Given the description of an element on the screen output the (x, y) to click on. 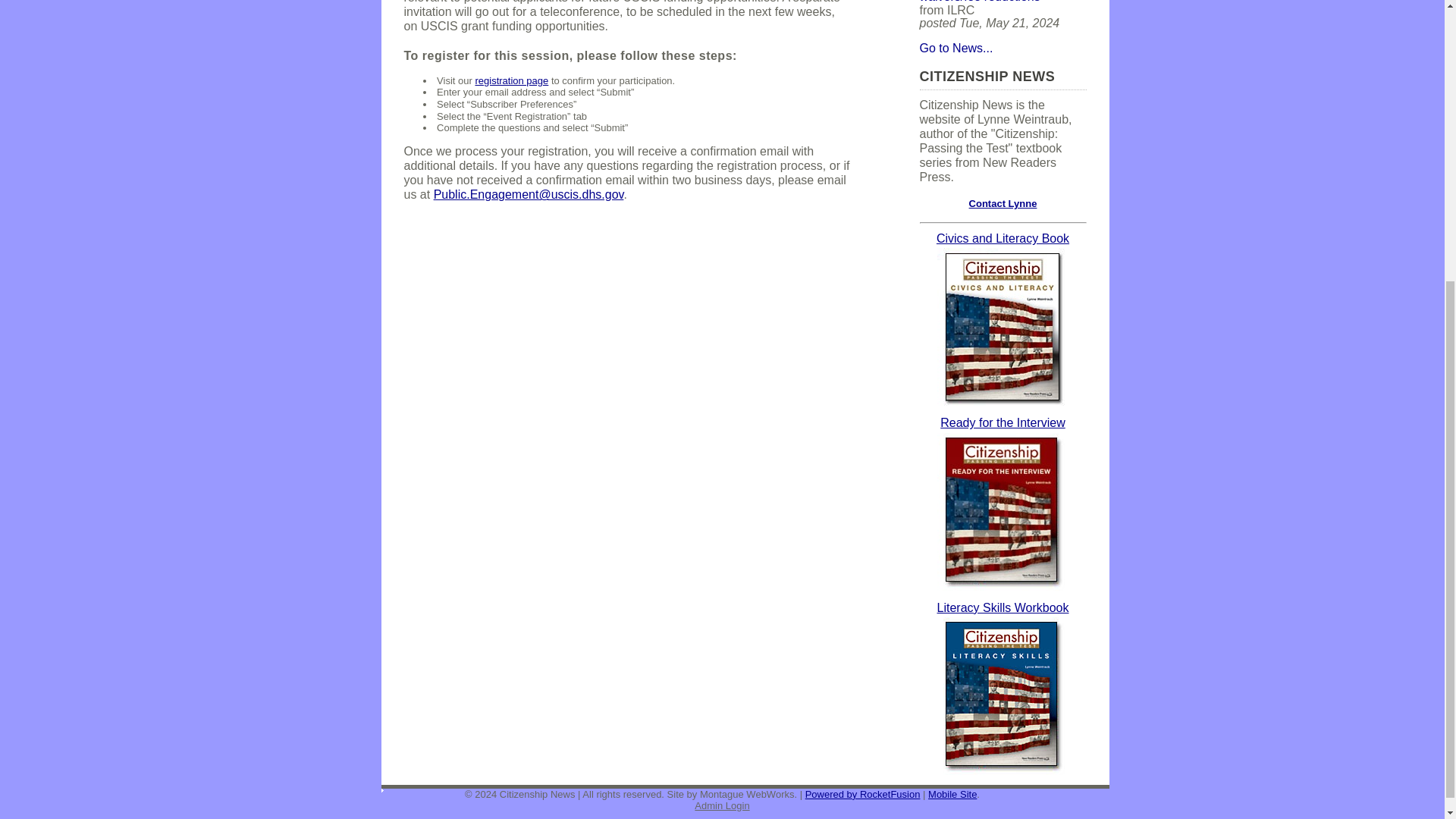
Ready for the Interview (1003, 429)
Go to News... (955, 47)
Civics and Literacy Book (1003, 245)
from ILRC (986, 2)
registration page (511, 80)
Admin Login (721, 805)
Literacy Skills Workbook (1003, 614)
Contact Lynne (1002, 203)
Mobile Site (952, 794)
Powered by RocketFusion (862, 794)
